Given the description of an element on the screen output the (x, y) to click on. 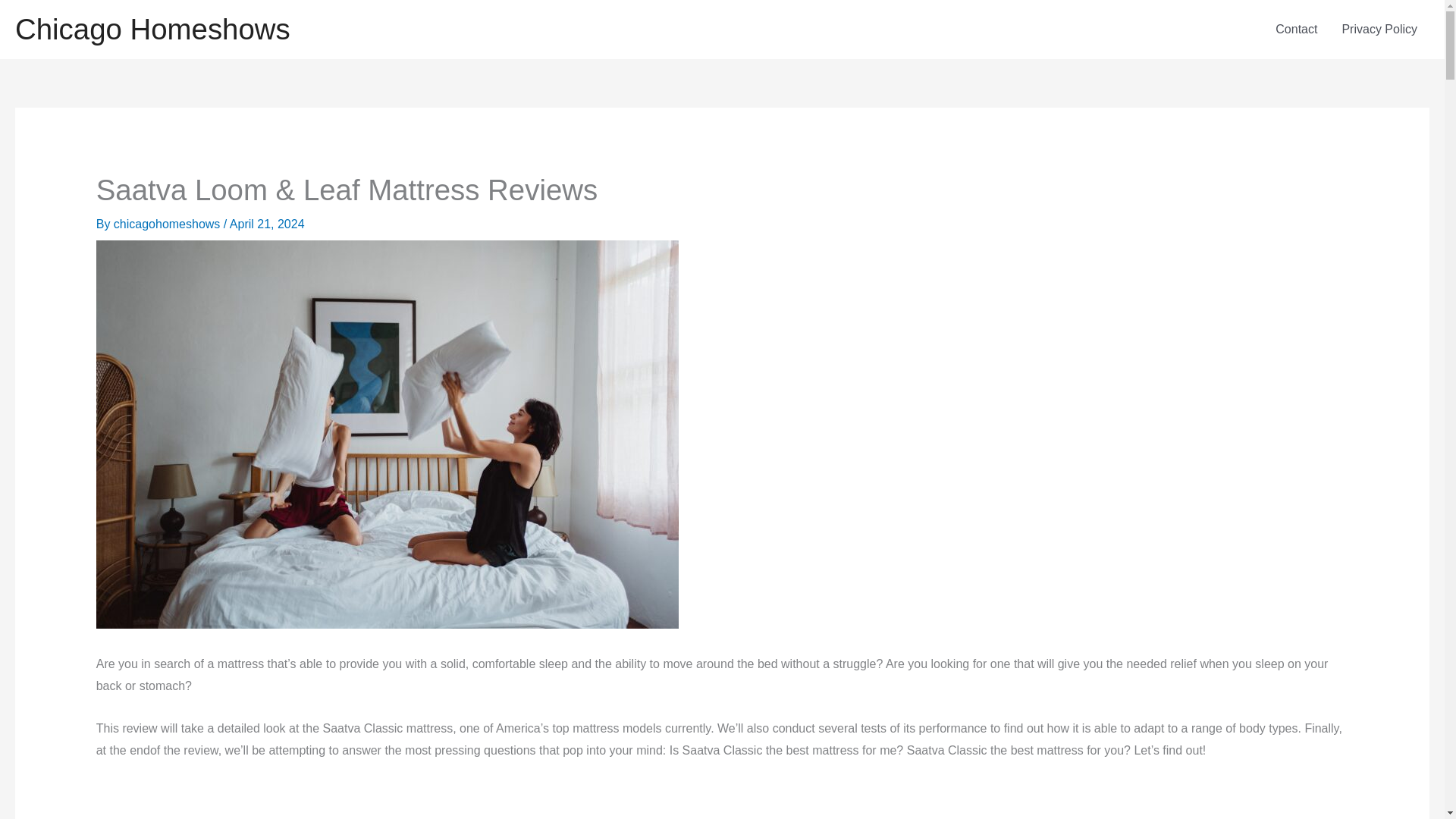
Contact (1296, 29)
Chicago Homeshows (151, 29)
chicagohomeshows (168, 223)
Privacy Policy (1379, 29)
View all posts by chicagohomeshows (168, 223)
